Given the description of an element on the screen output the (x, y) to click on. 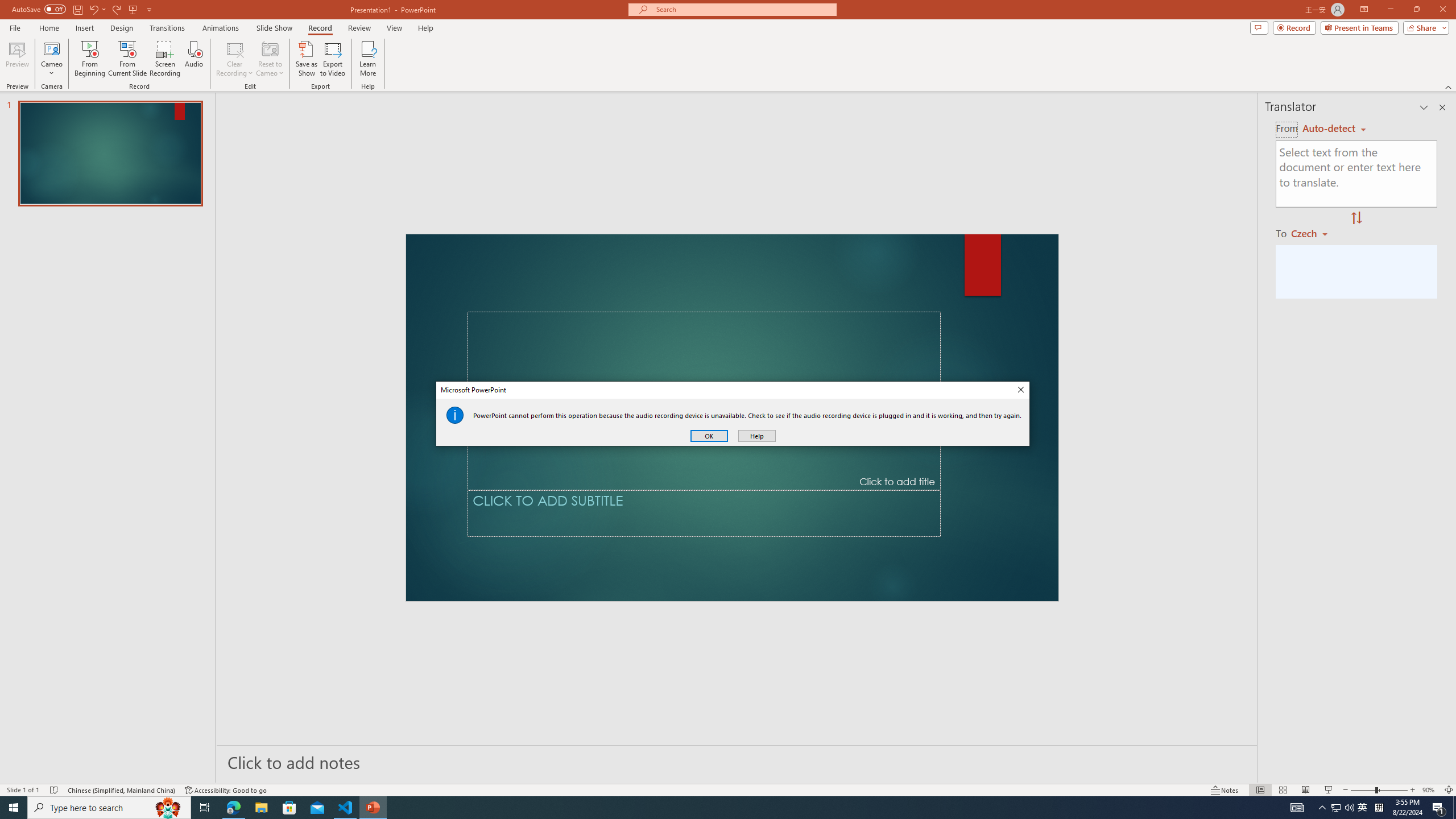
Zoom 90% (1430, 790)
